Given the description of an element on the screen output the (x, y) to click on. 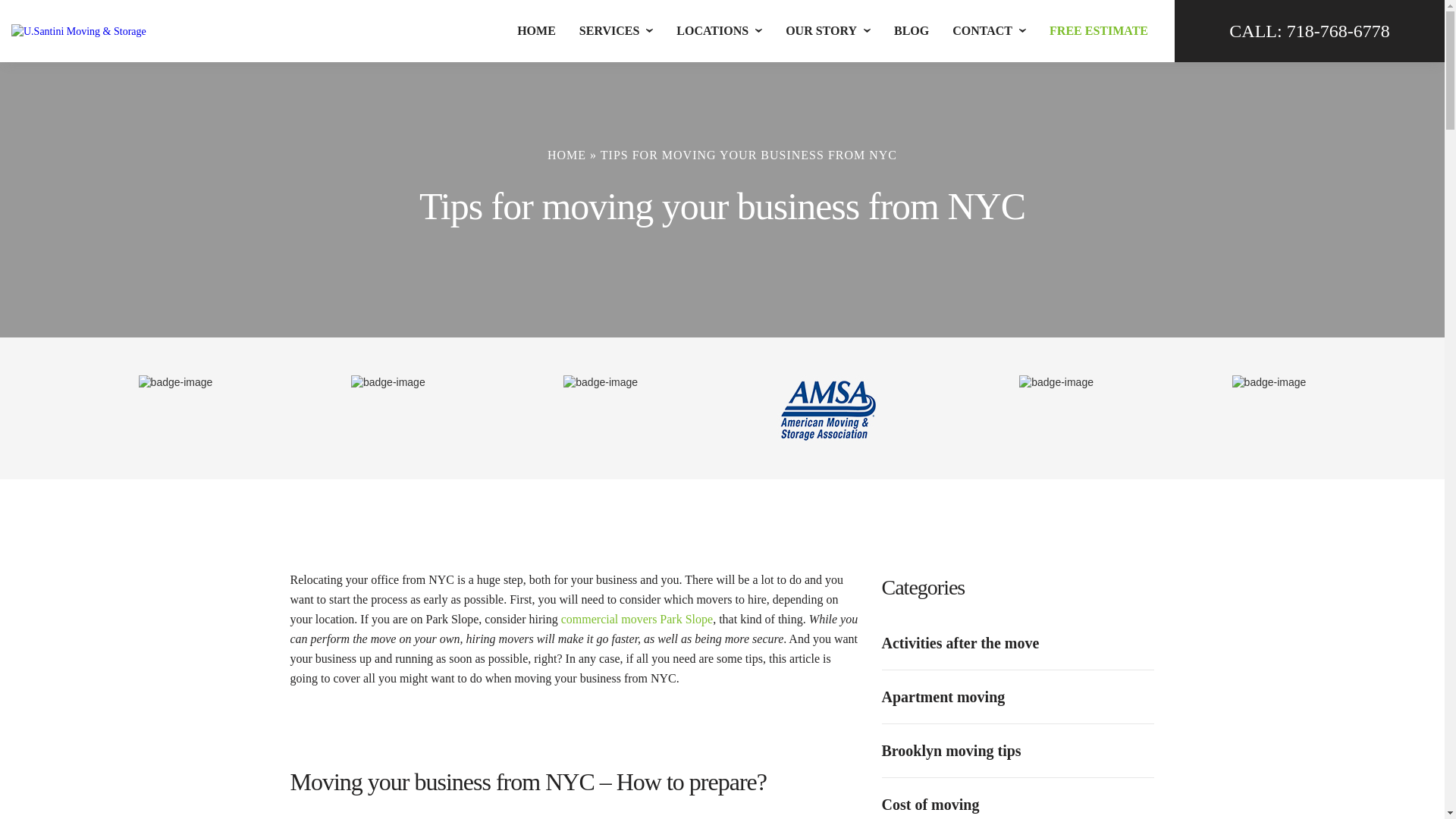
HOME (536, 30)
LOCATIONS (712, 30)
SERVICES (609, 30)
